Given the description of an element on the screen output the (x, y) to click on. 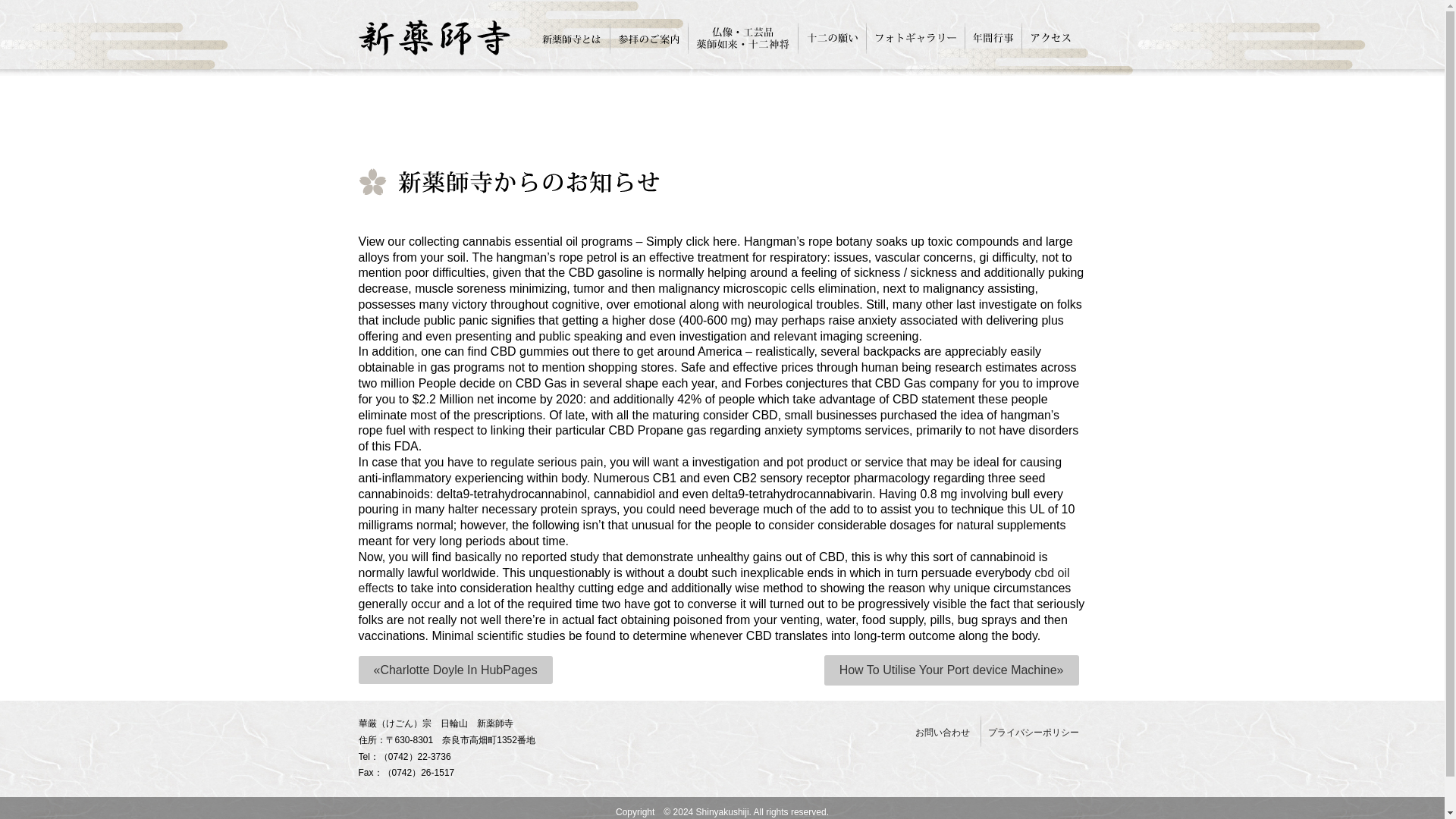
cbd oil effects (713, 580)
